Given the description of an element on the screen output the (x, y) to click on. 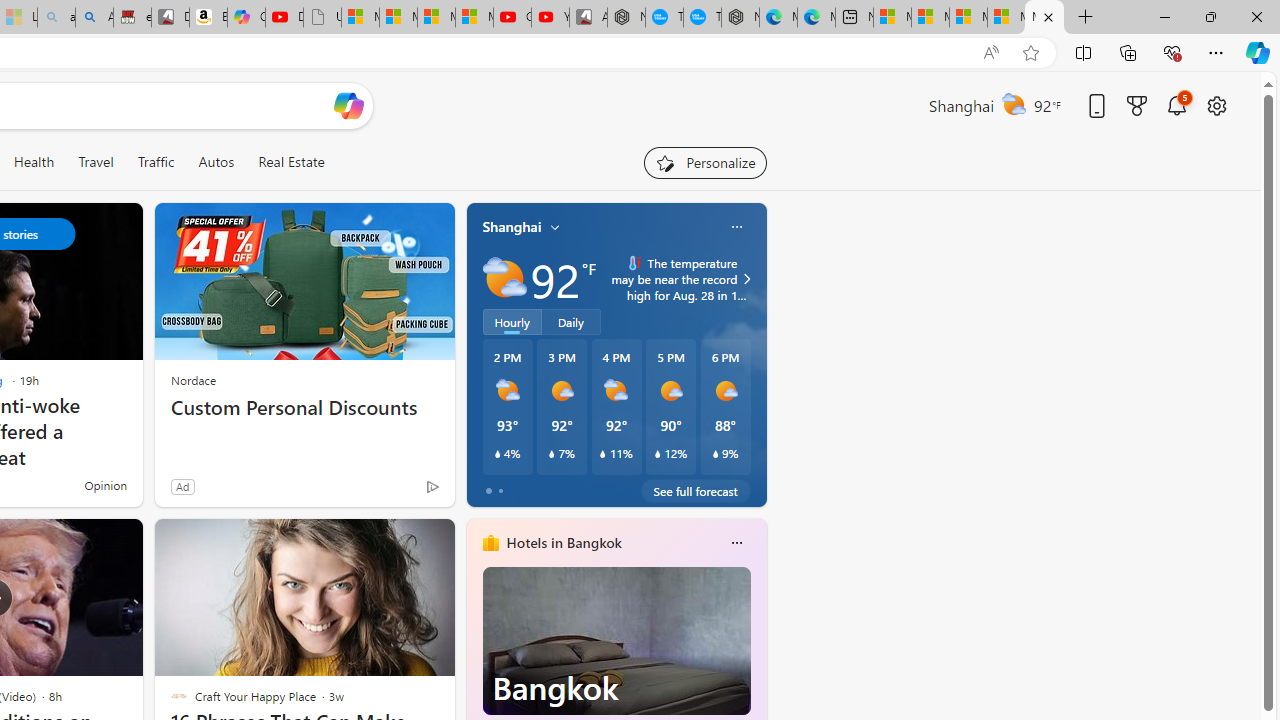
Untitled (321, 17)
Shanghai (511, 227)
Hotels in Bangkok (563, 543)
My location (555, 227)
